Given the description of an element on the screen output the (x, y) to click on. 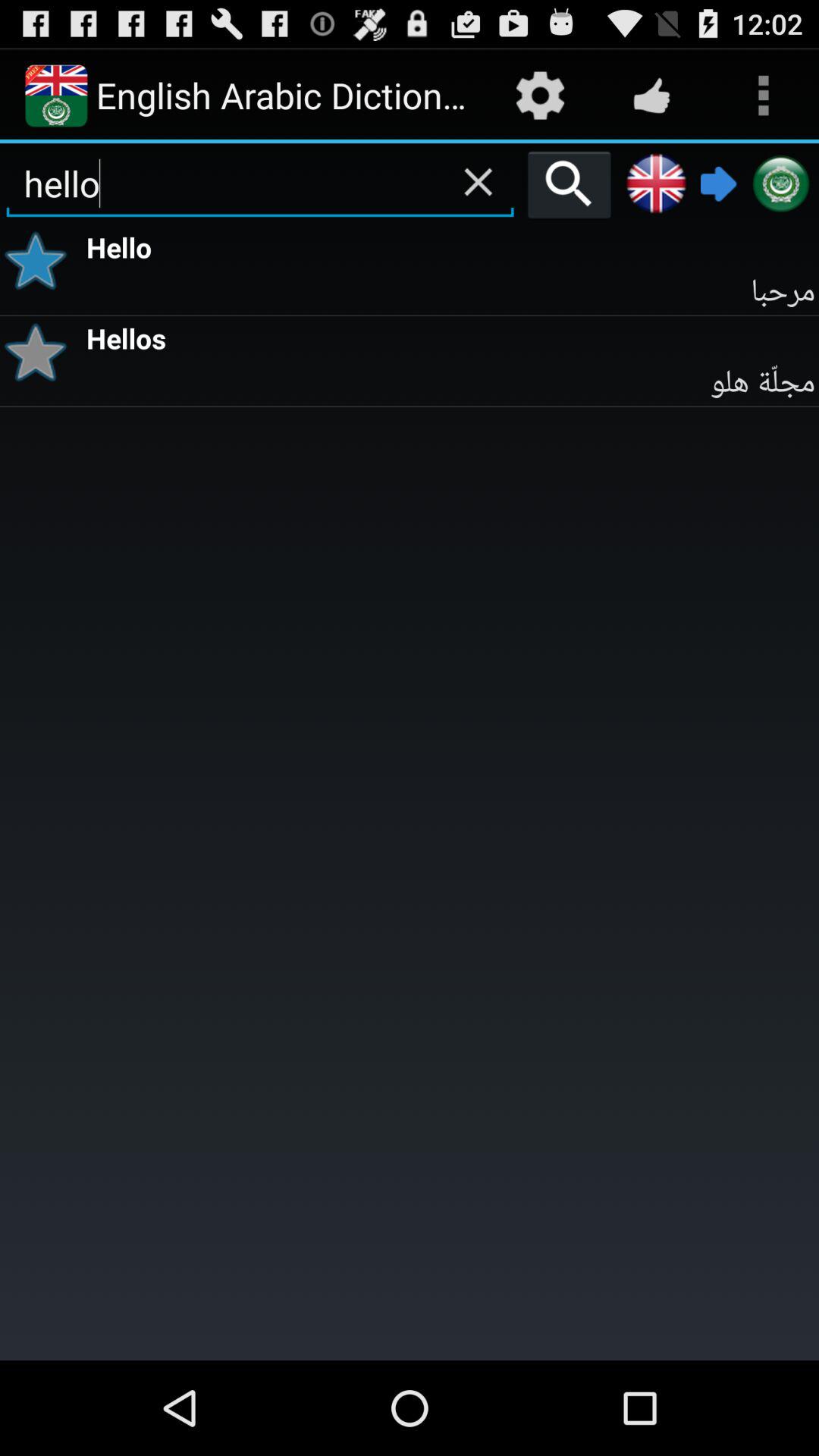
add to favorite (41, 351)
